Given the description of an element on the screen output the (x, y) to click on. 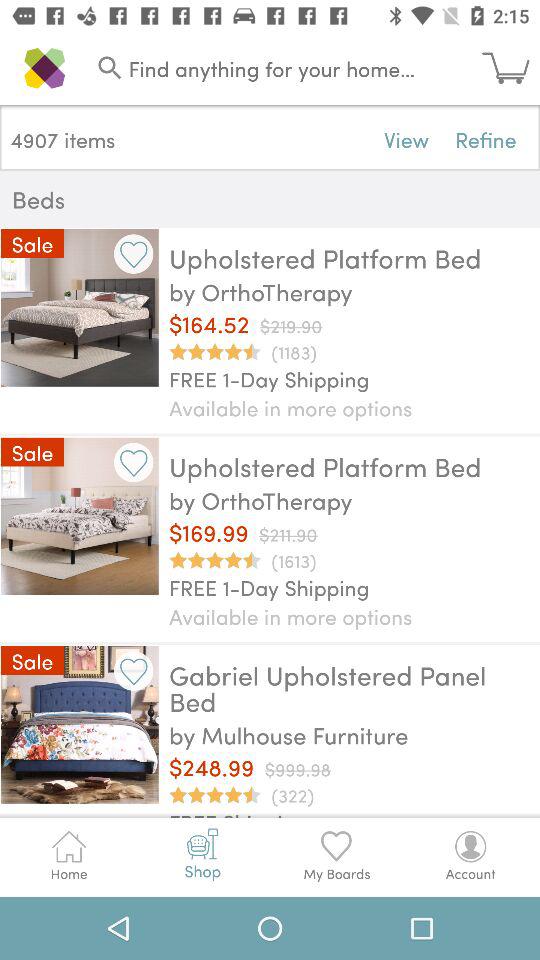
add to favor (133, 462)
